Given the description of an element on the screen output the (x, y) to click on. 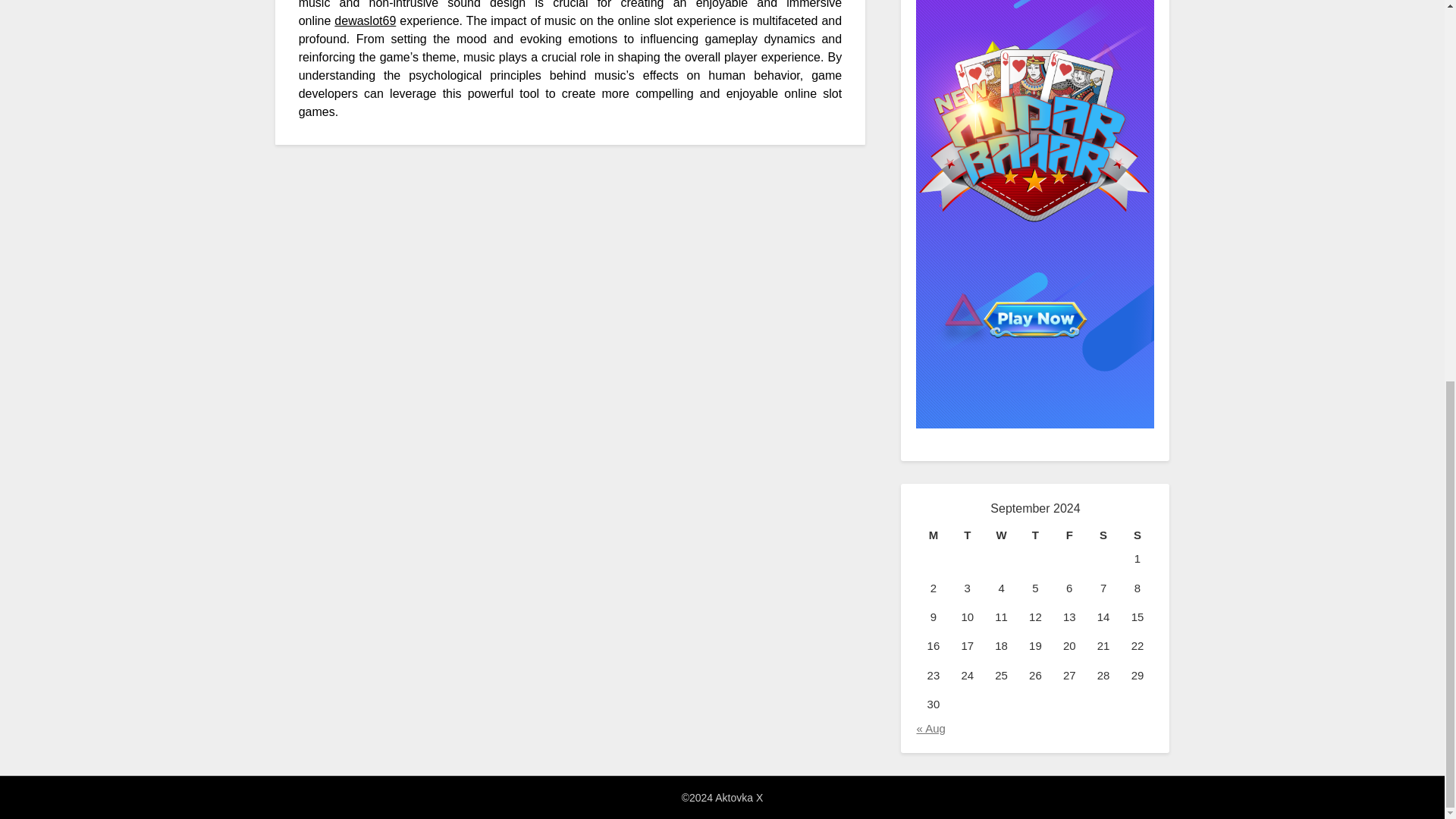
Thursday (1034, 535)
dewaslot69 (365, 20)
Wednesday (1000, 535)
Sunday (1137, 535)
Saturday (1103, 535)
Monday (932, 535)
Friday (1069, 535)
Tuesday (967, 535)
